Given the description of an element on the screen output the (x, y) to click on. 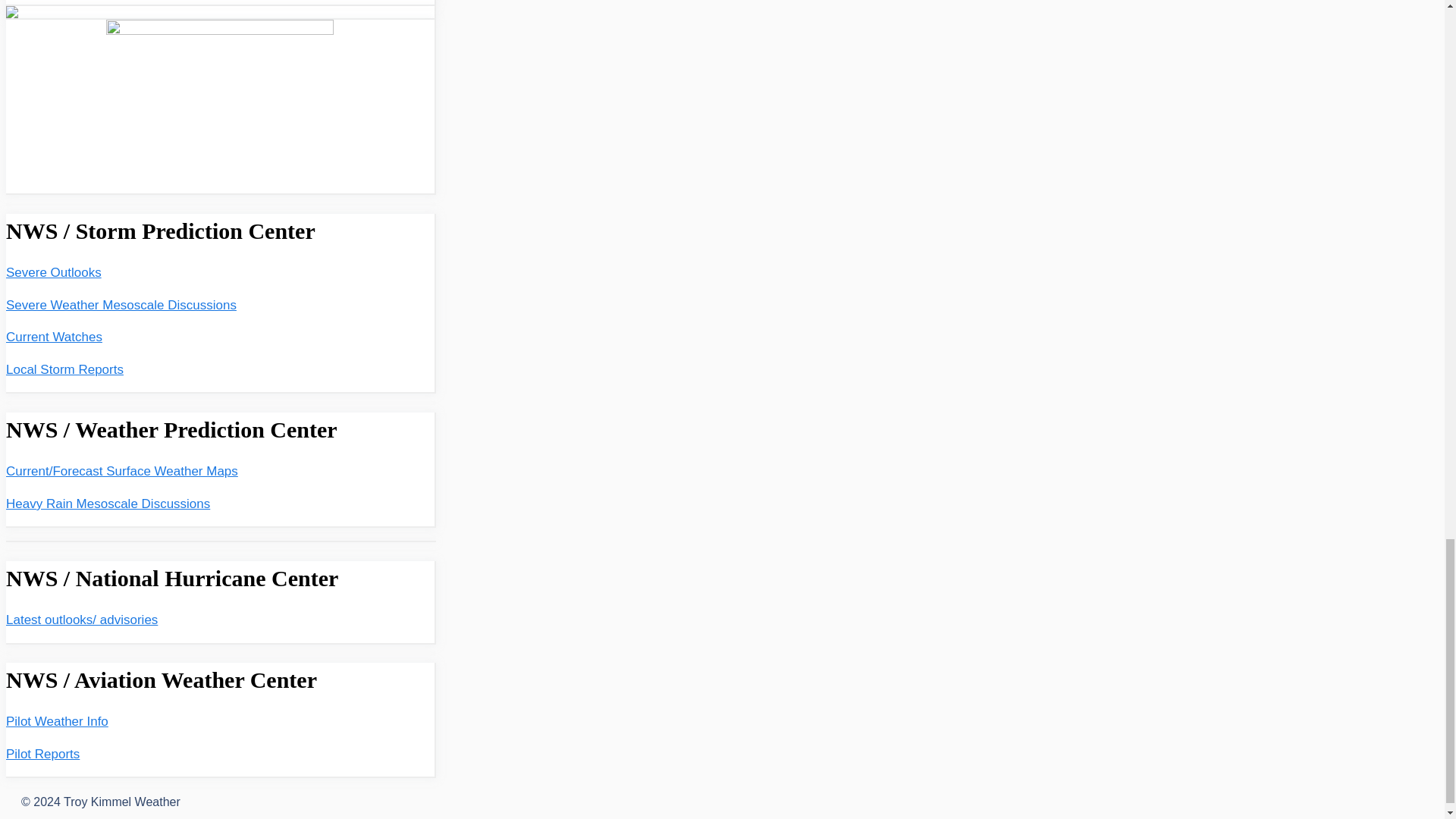
Heavy Rain Mesoscale Discussions (107, 503)
Severe Weather Mesoscale Discussions (120, 305)
Pilot Reports (42, 753)
Latest Outlooks (81, 619)
Mesoscale Discussions (120, 305)
Severe Outlooks (53, 272)
Local Storm Reports (64, 369)
Current Watches (53, 336)
Piolet Weather Info (56, 721)
Current Watches (53, 336)
